Given the description of an element on the screen output the (x, y) to click on. 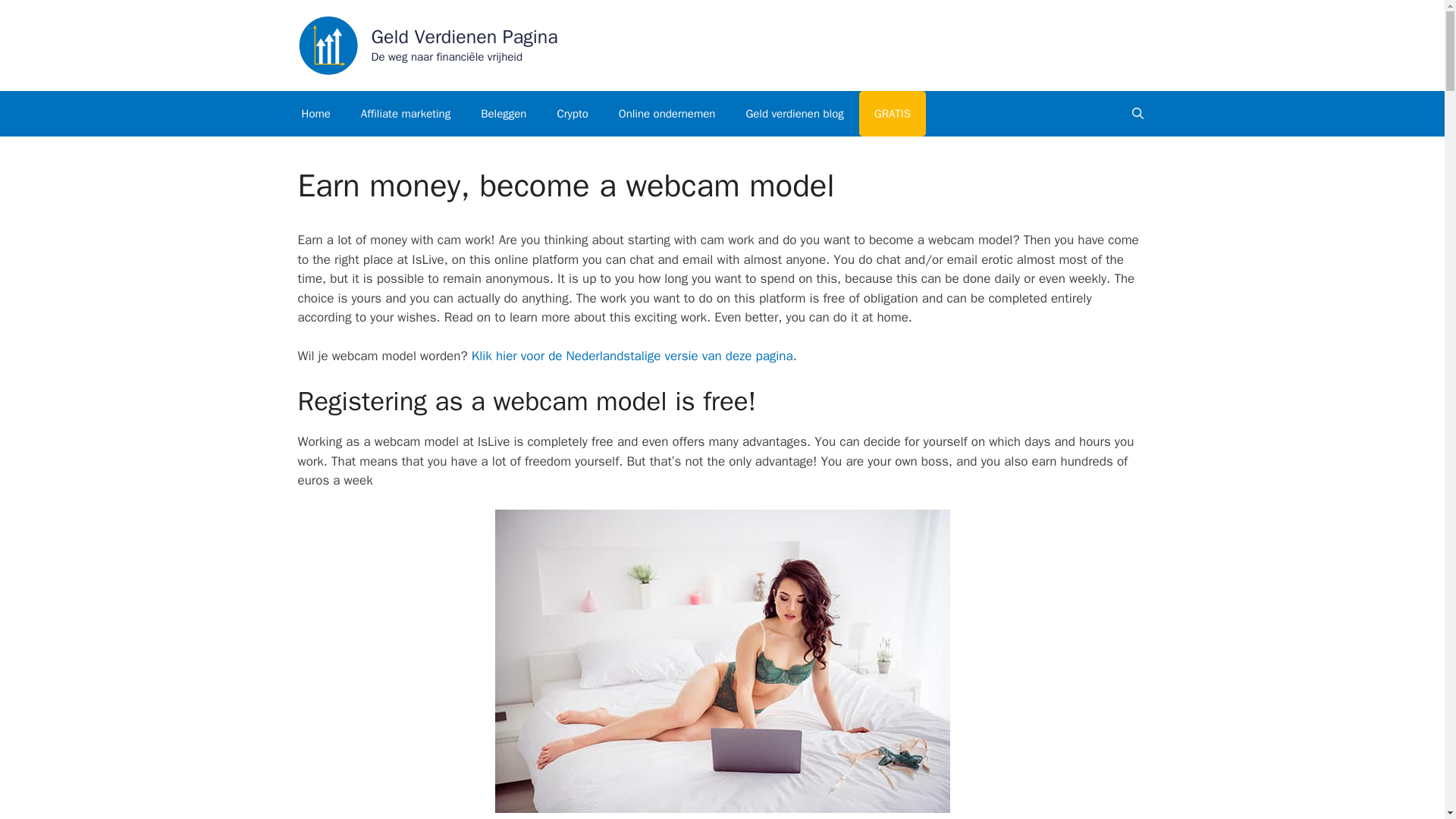
Online ondernemen (667, 113)
Klik hier voor de Nederlandstalige versie van deze pagina (632, 355)
Geld Verdienen Pagina (464, 36)
Home (316, 113)
Affiliate marketing (405, 113)
GRATIS (892, 113)
Beleggen (503, 113)
Crypto (571, 113)
Geld verdienen blog (794, 113)
